Given the description of an element on the screen output the (x, y) to click on. 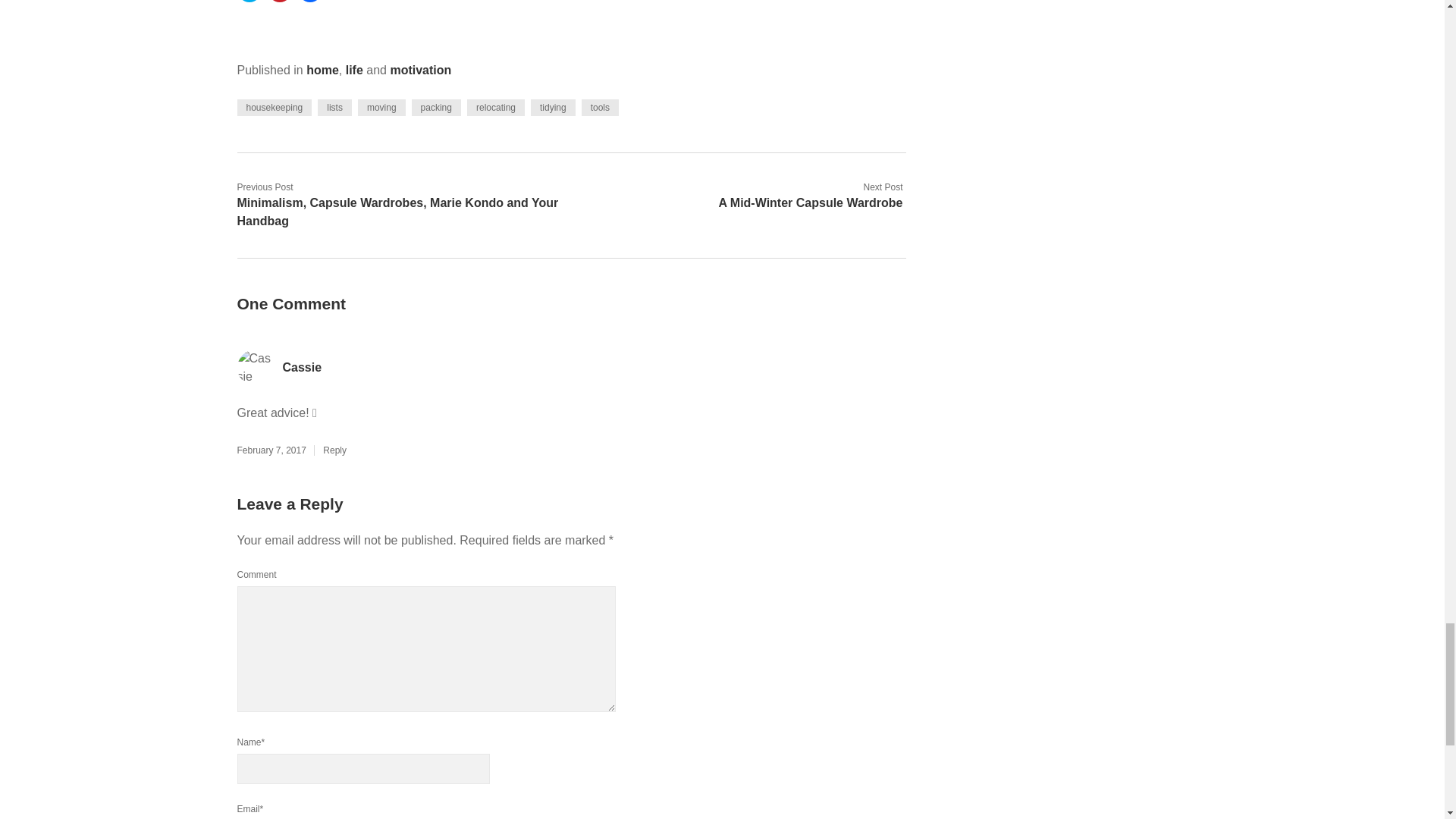
View all posts tagged housekeeping (273, 107)
Cassie (301, 367)
Click to share on Pinterest (278, 1)
lists (334, 107)
housekeeping (273, 107)
life (354, 69)
tools (599, 107)
home (322, 69)
Click to share on Facebook (309, 1)
View all posts tagged moving (382, 107)
A Mid-Winter Capsule Wardrobe (809, 202)
View all posts in home (322, 69)
relocating (495, 107)
tidying (553, 107)
Minimalism, Capsule Wardrobes, Marie Kondo and Your Handbag (396, 211)
